Given the description of an element on the screen output the (x, y) to click on. 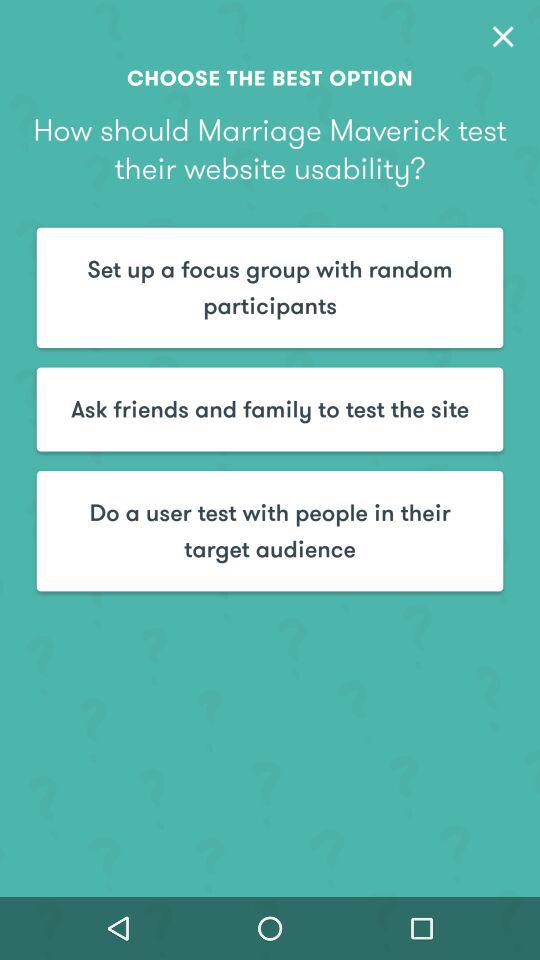
select the icon to the right of the choose the best item (503, 36)
